Given the description of an element on the screen output the (x, y) to click on. 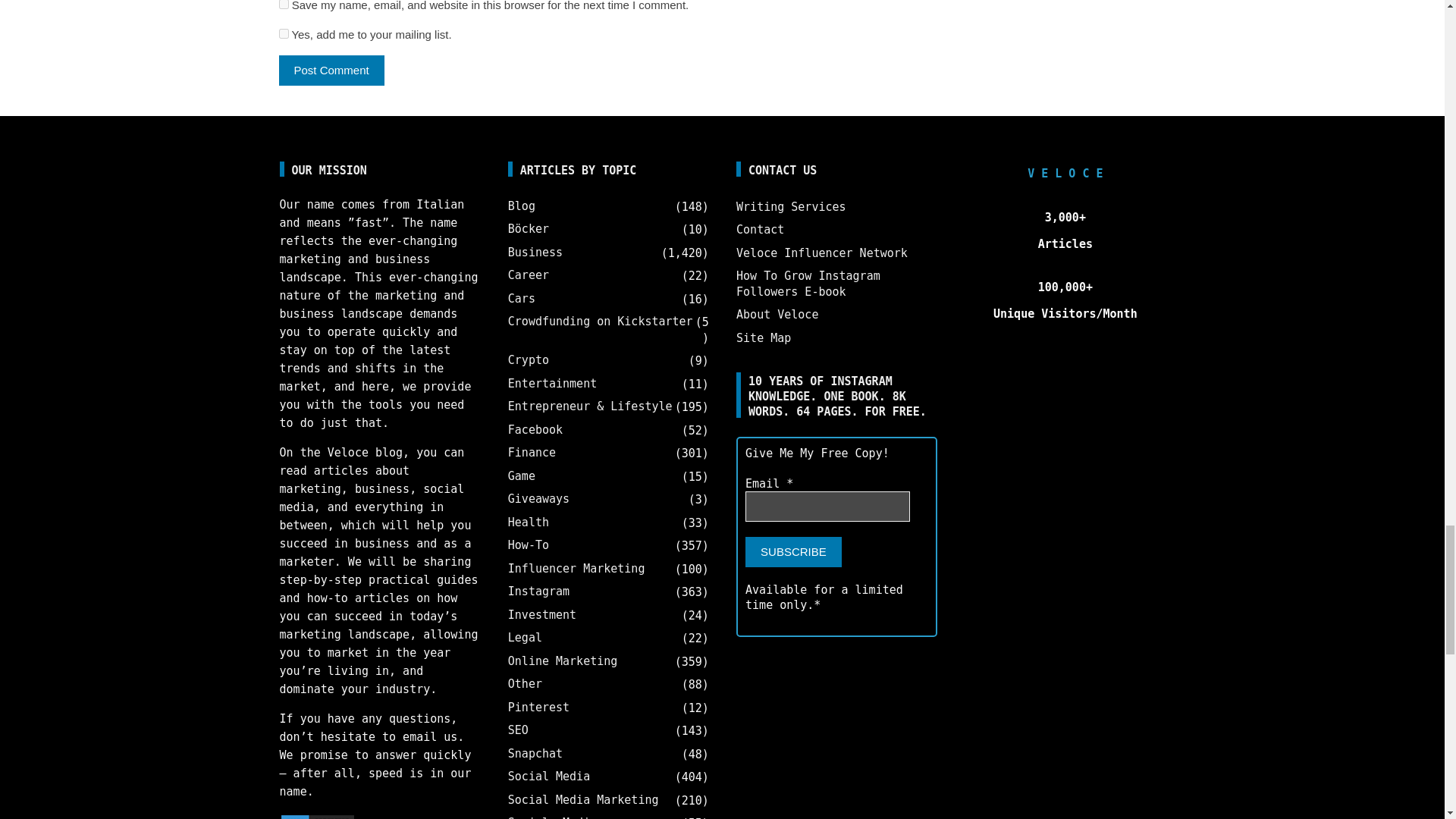
SUBSCRIBE (793, 552)
Post Comment (331, 70)
1 (283, 33)
Email (827, 506)
DMCA.com Protection Status (317, 816)
yes (283, 4)
How To Grow Instagram Followers E-book (808, 283)
Post Comment (331, 70)
